Given the description of an element on the screen output the (x, y) to click on. 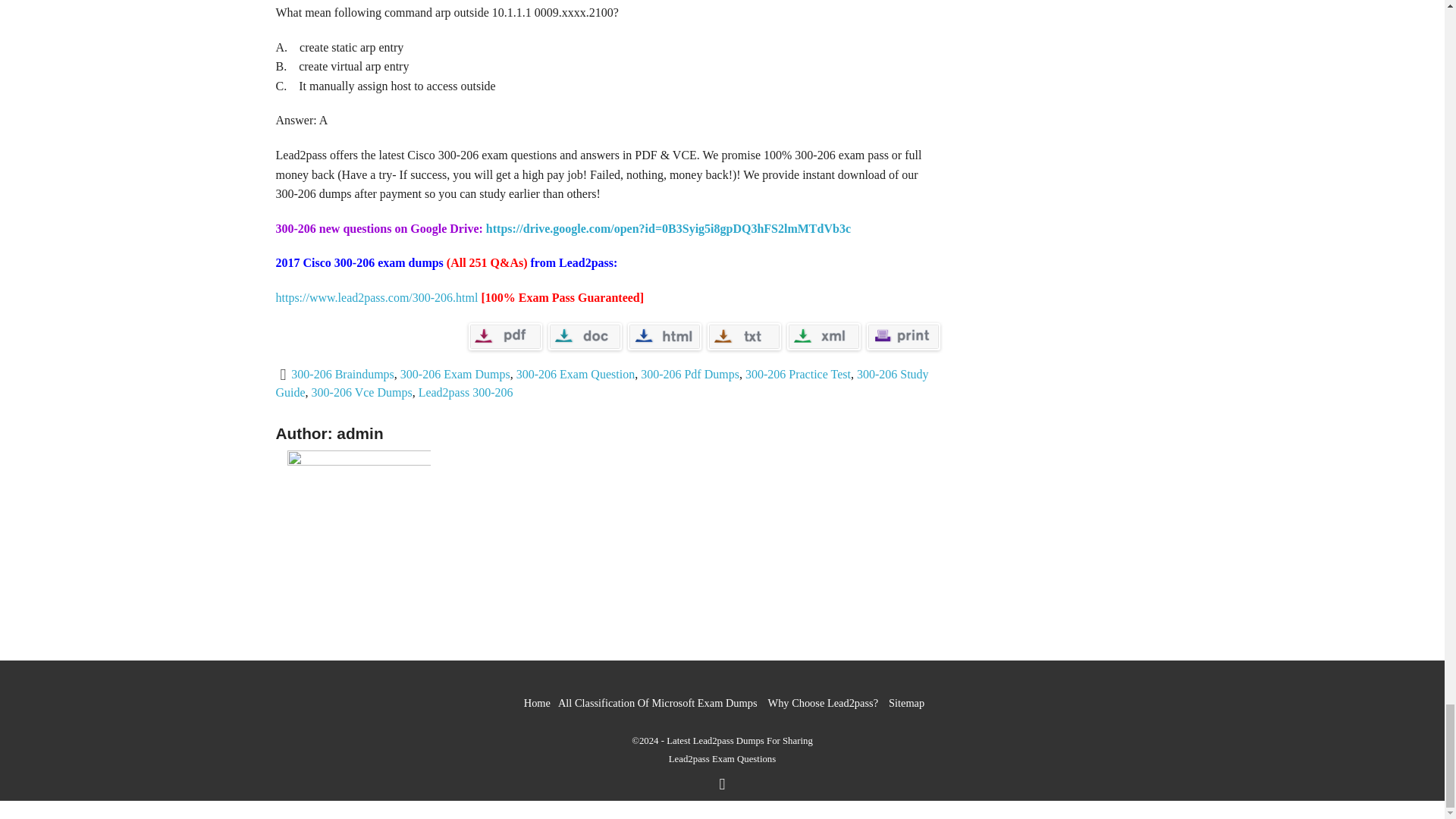
300-206 Braindumps (342, 373)
Save as Text (743, 336)
300-206 Study Guide (602, 382)
Save as HTML (664, 336)
300-206 Vce Dumps (361, 391)
Save as Word Document (584, 336)
Save as XML (823, 336)
300-206 Exam Question (575, 373)
300-206 Exam Dumps (455, 373)
Print this Post (902, 336)
